Given the description of an element on the screen output the (x, y) to click on. 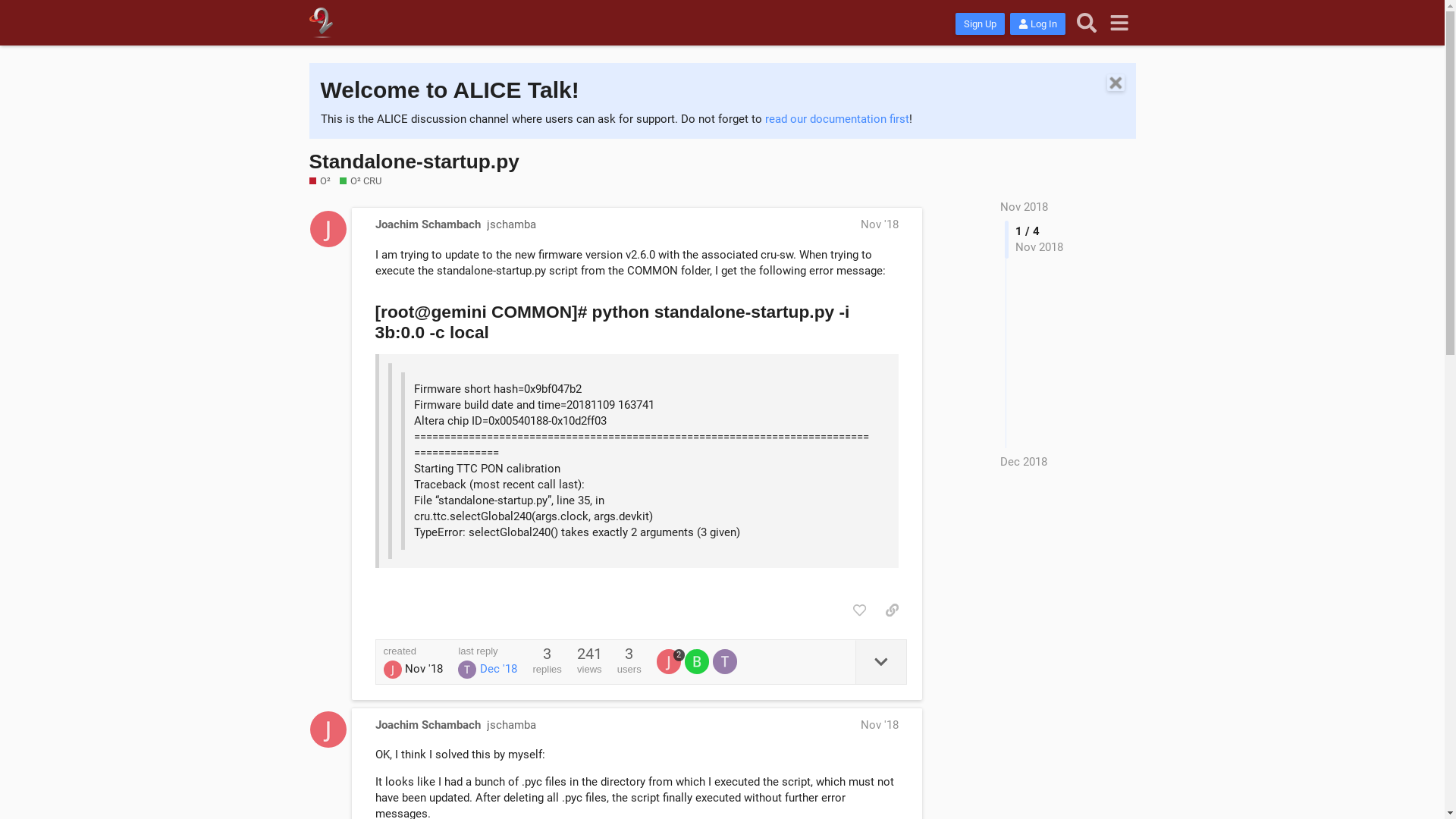
Dec 2018 Element type: text (1023, 462)
Joachim Schambach Element type: hover (668, 661)
Joachim Schambach Element type: text (427, 725)
Search Element type: hover (1086, 22)
2 Element type: text (670, 661)
Standalone-startup.py Element type: text (414, 161)
Nov '18 Element type: text (878, 224)
Joachim Schambach Element type: hover (392, 669)
last reply
Dec '18 Element type: text (487, 662)
Nov '18 Element type: text (878, 724)
share a link to this post Element type: hover (892, 610)
Sign Up Element type: text (979, 23)
Nov 2018 Element type: text (1024, 206)
Log In Element type: text (1037, 23)
jschamba Element type: text (511, 724)
jschamba Element type: text (511, 224)
Joachim Schambach Element type: text (427, 224)
Torsten Alt Element type: hover (467, 669)
like this post Element type: hover (859, 610)
talt Element type: hover (726, 661)
read our documentation first Element type: text (836, 118)
Torsten Alt Element type: hover (724, 661)
Dismiss this banner Element type: hover (1115, 82)
menu Element type: hover (1119, 22)
Olivier Bourrion Element type: hover (696, 661)
bourrion Element type: hover (698, 661)
expand topic details Element type: hover (880, 662)
